Given the description of an element on the screen output the (x, y) to click on. 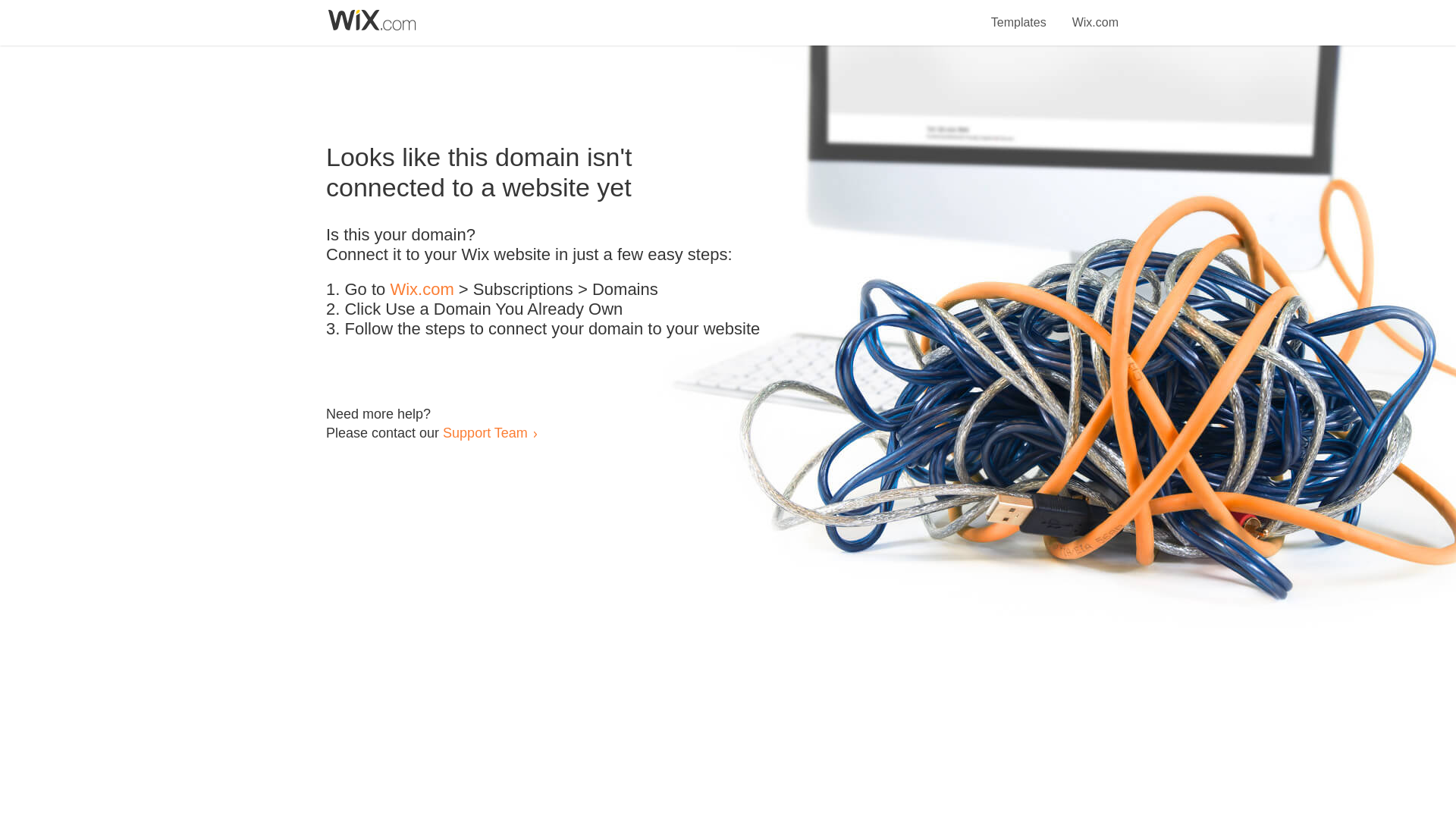
Support Team (484, 432)
Wix.com (1095, 14)
Templates (1018, 14)
Wix.com (421, 289)
